Given the description of an element on the screen output the (x, y) to click on. 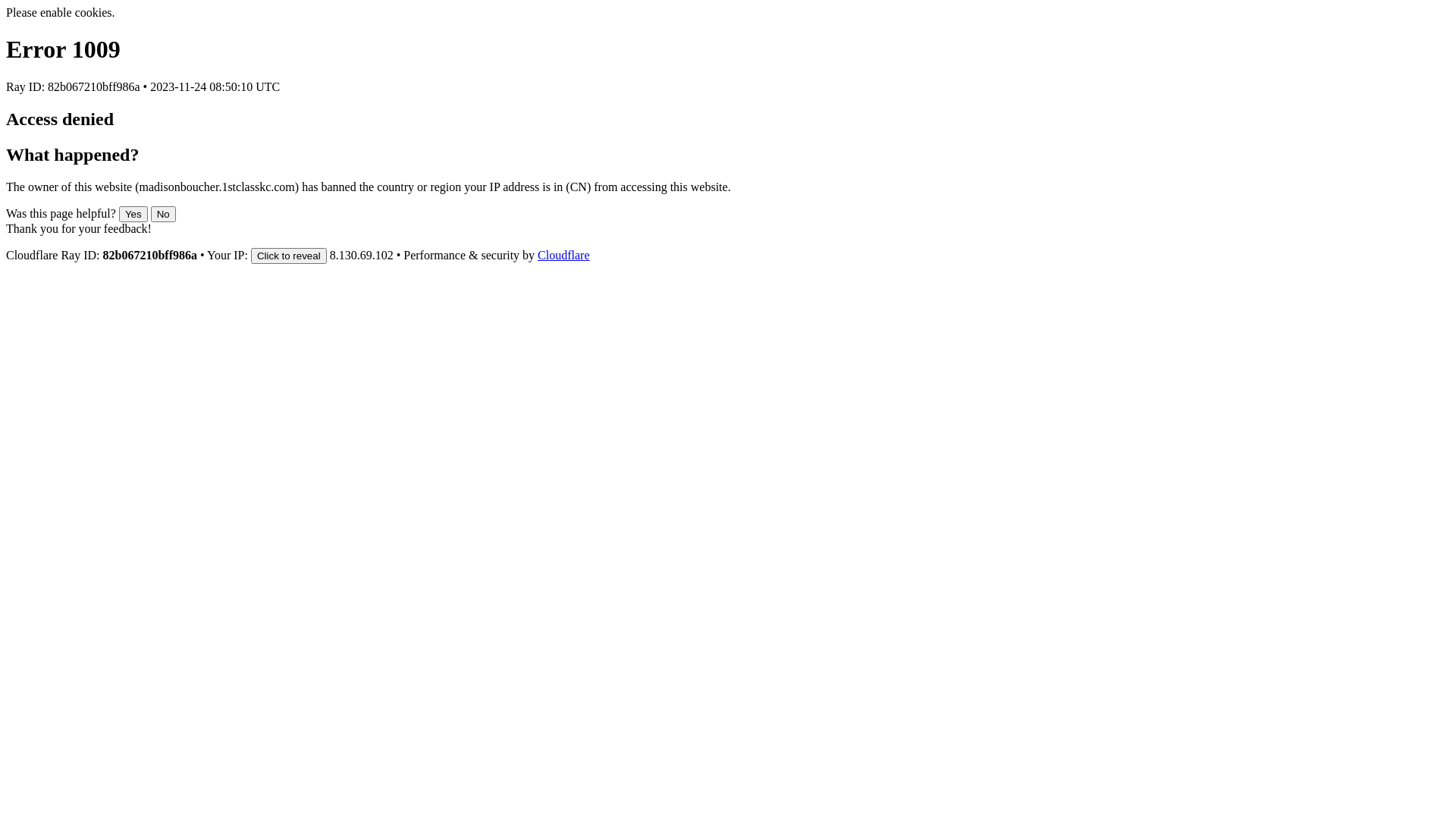
Click to reveal Element type: text (288, 255)
Yes Element type: text (133, 214)
Cloudflare Element type: text (563, 254)
No Element type: text (162, 214)
